Given the description of an element on the screen output the (x, y) to click on. 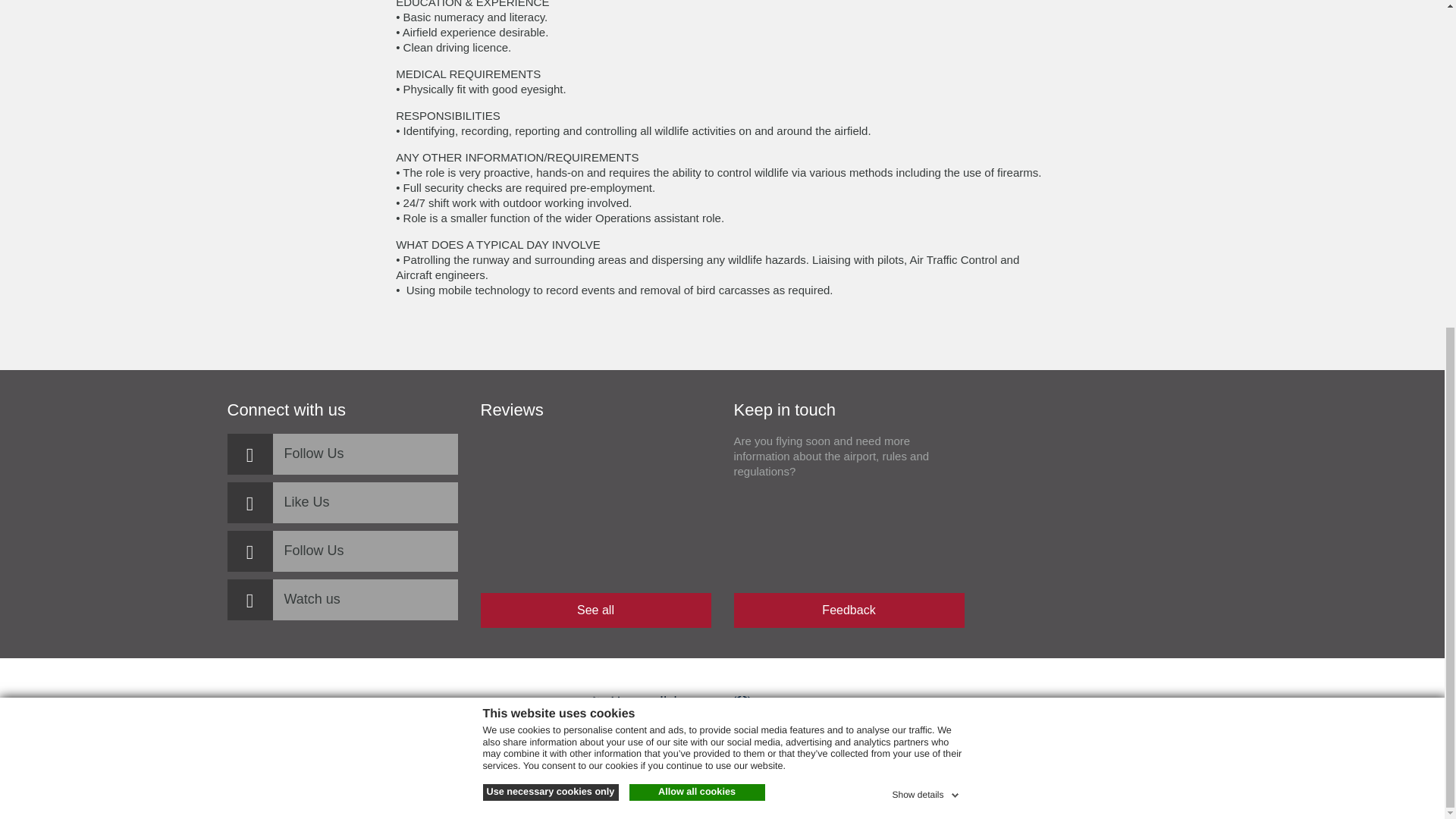
Show details (925, 252)
Allow all cookies (696, 252)
Use necessary cookies only (549, 252)
